Given the description of an element on the screen output the (x, y) to click on. 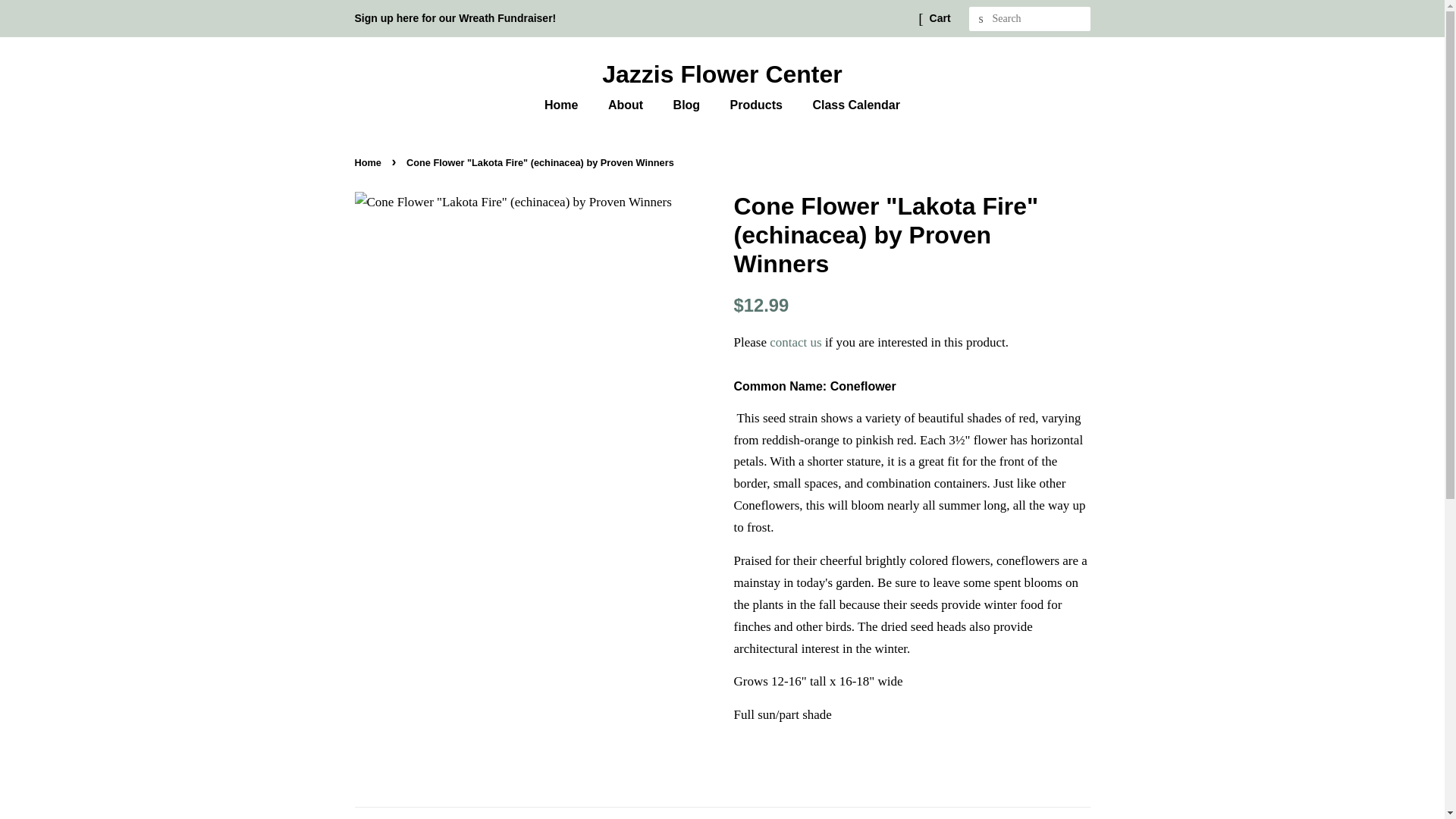
Home (370, 162)
contact us (795, 341)
About (627, 104)
Search (980, 18)
Products (758, 104)
Back to the frontpage (370, 162)
Home (568, 104)
Jazzis Flower Center (722, 73)
Blog (689, 104)
Sign up here for our Wreath Fundraiser! (455, 18)
Cart (940, 18)
Class Calendar (849, 104)
